Given the description of an element on the screen output the (x, y) to click on. 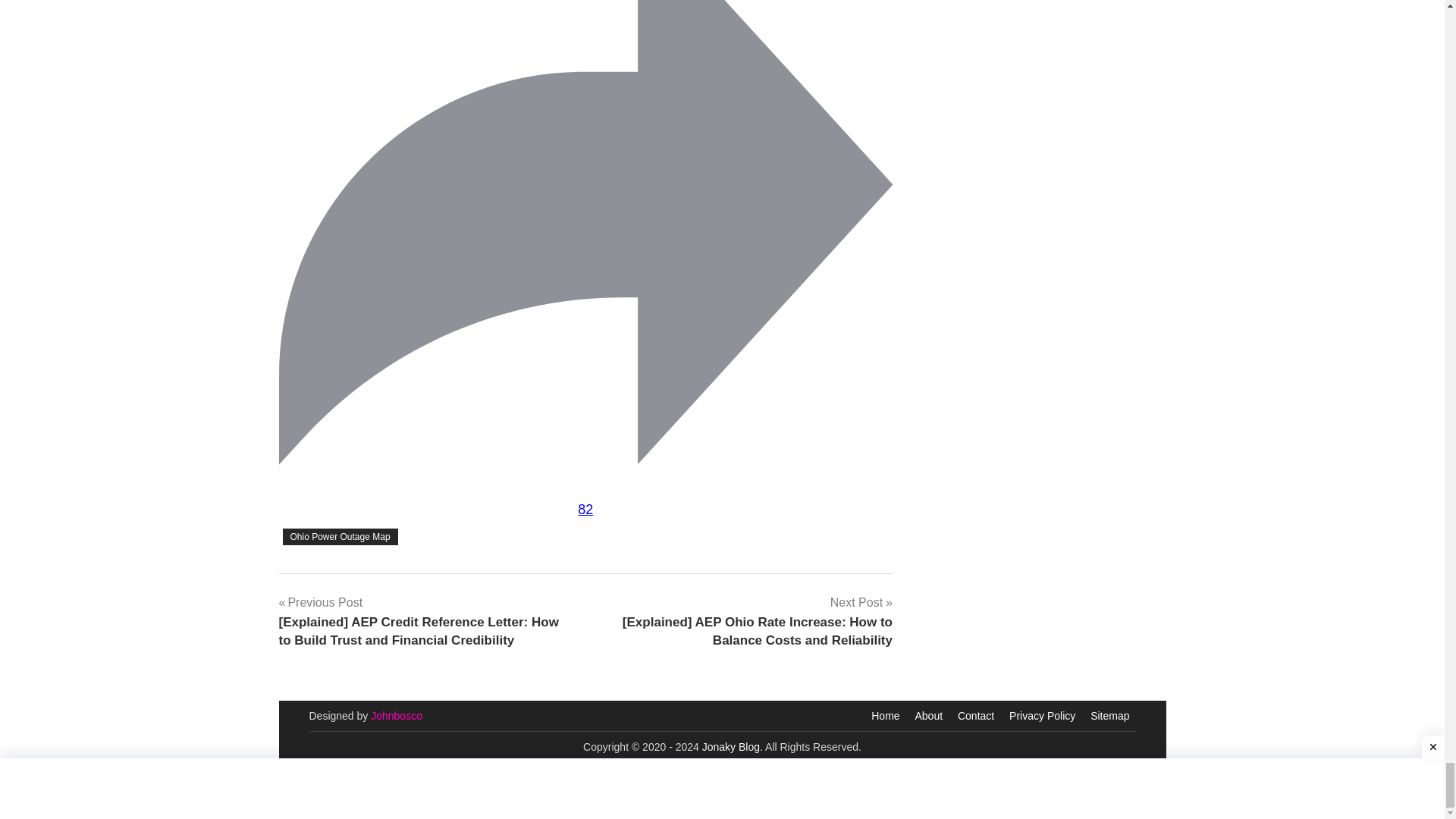
Admin (396, 715)
Jonaky Blog (730, 746)
